Given the description of an element on the screen output the (x, y) to click on. 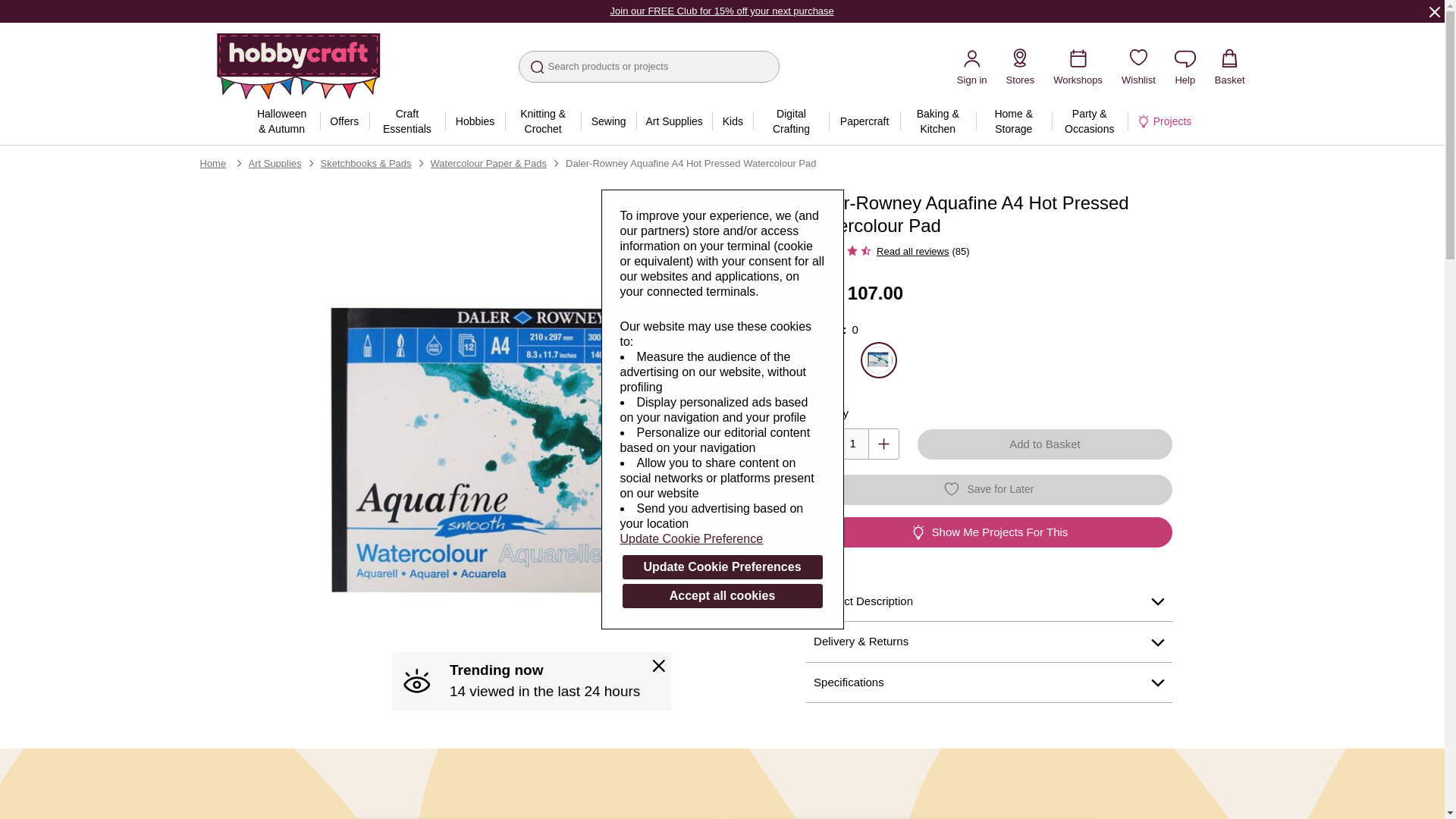
Hobbies (475, 121)
Digital Crafting (790, 121)
Workshops (1077, 65)
Search products or projects (648, 66)
Kids (731, 121)
Workshops (1077, 65)
Update Cookie Preference (722, 539)
Papercraft (863, 121)
Accept all cookies (722, 596)
Update Cookie Preferences (722, 566)
